Given the description of an element on the screen output the (x, y) to click on. 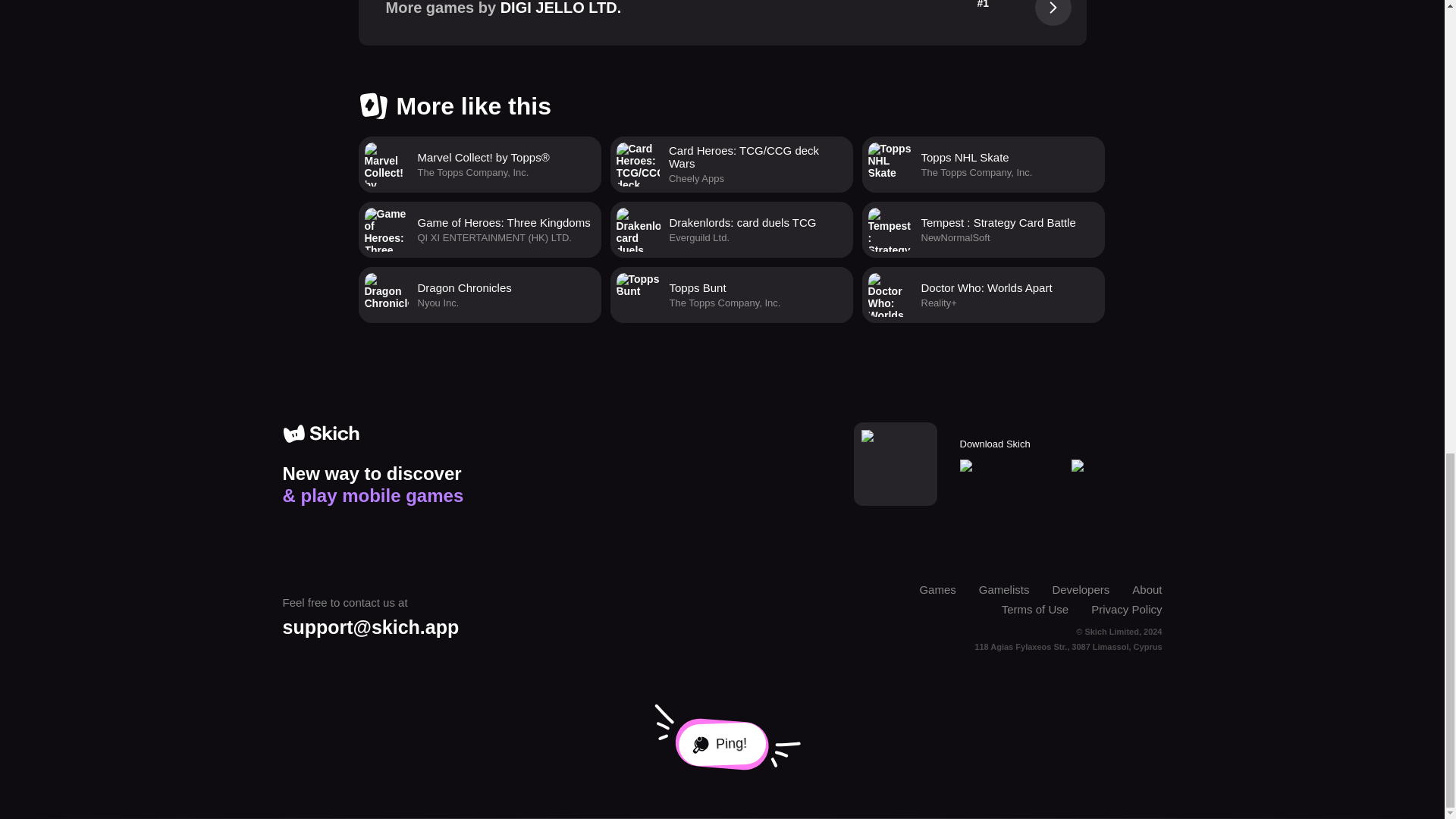
More games by DIGI JELLO LTD. (982, 164)
